Given the description of an element on the screen output the (x, y) to click on. 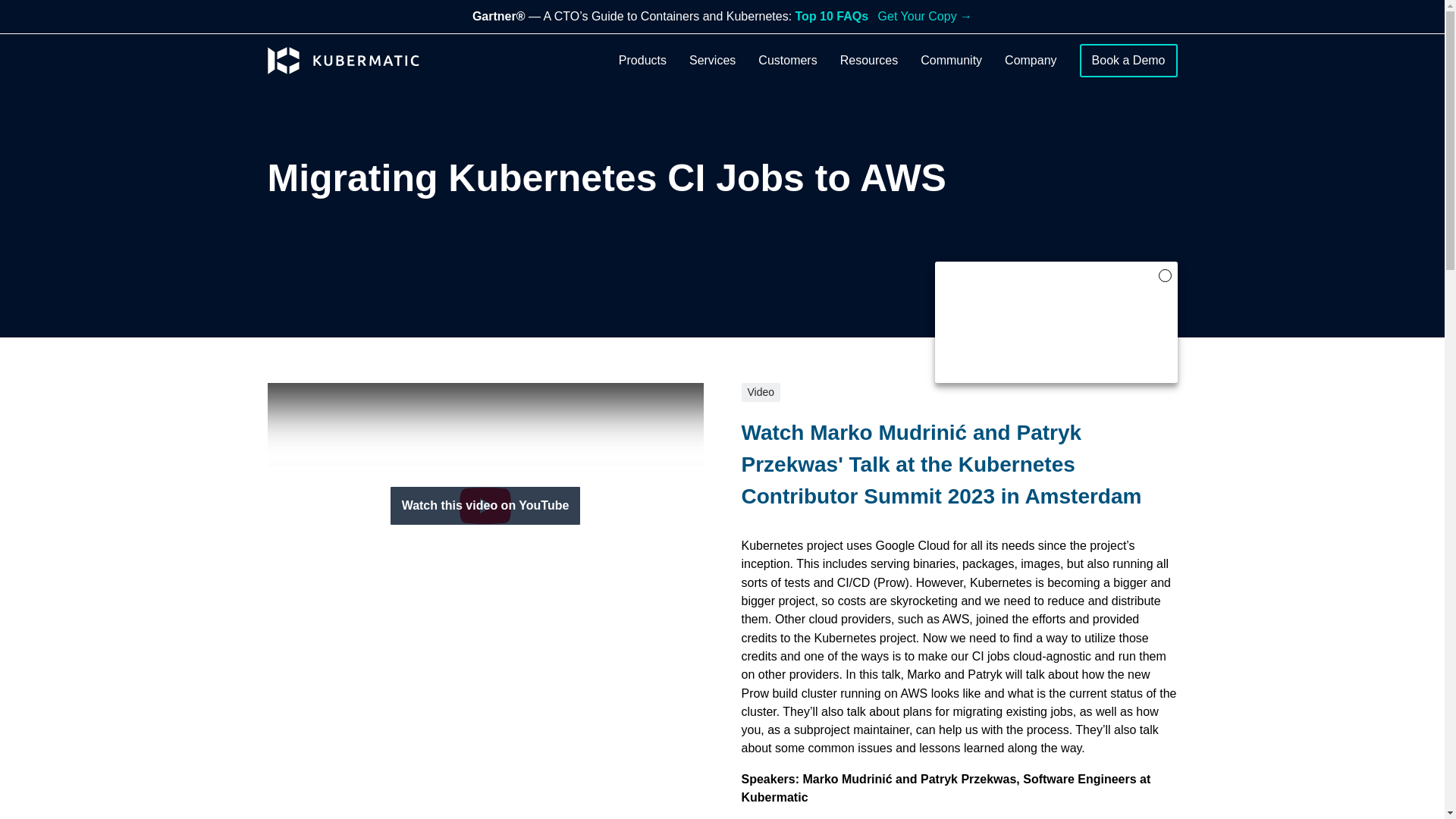
YouTube video player (484, 505)
Products (642, 60)
